Given the description of an element on the screen output the (x, y) to click on. 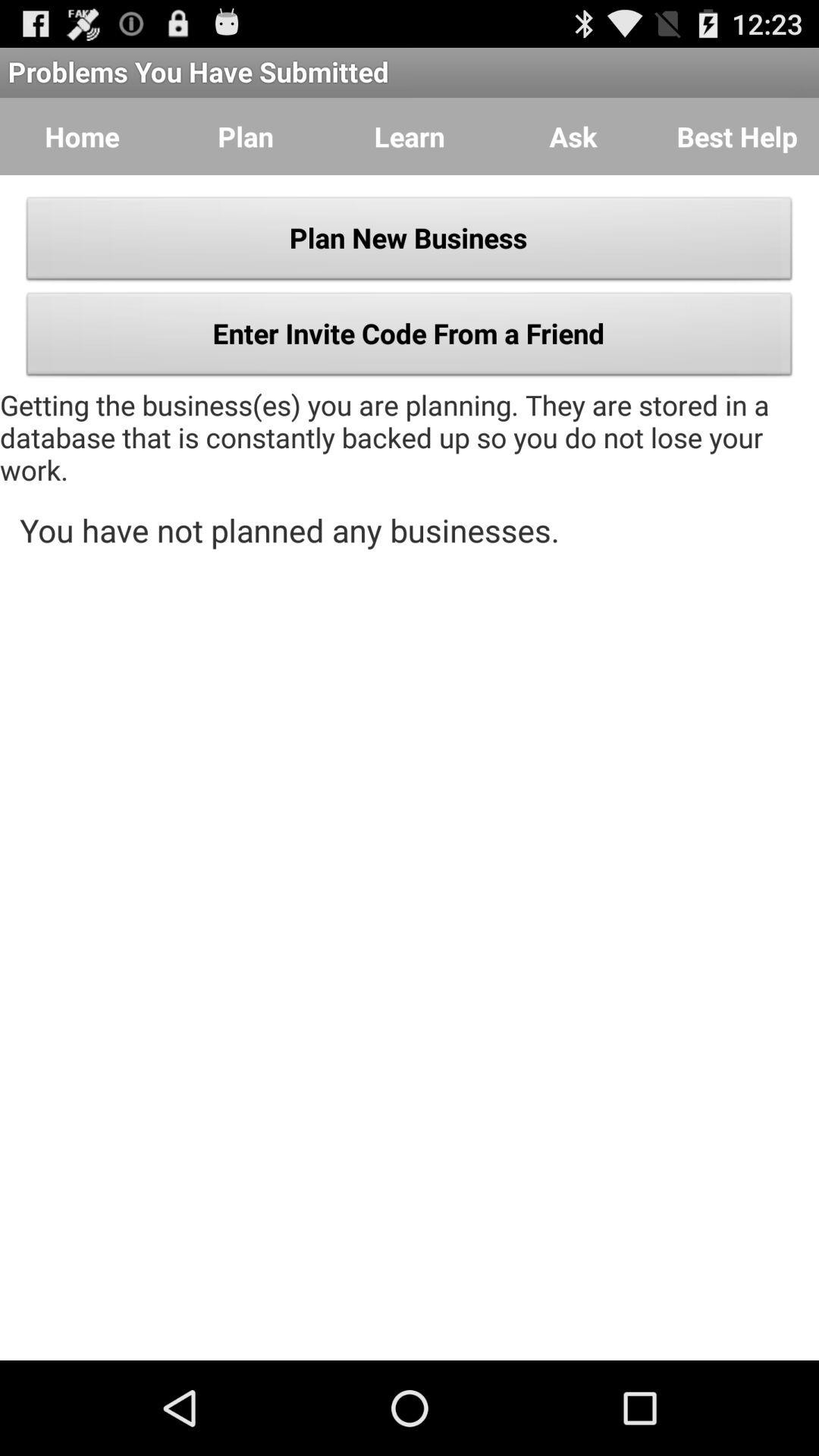
swipe until the home button (81, 136)
